Given the description of an element on the screen output the (x, y) to click on. 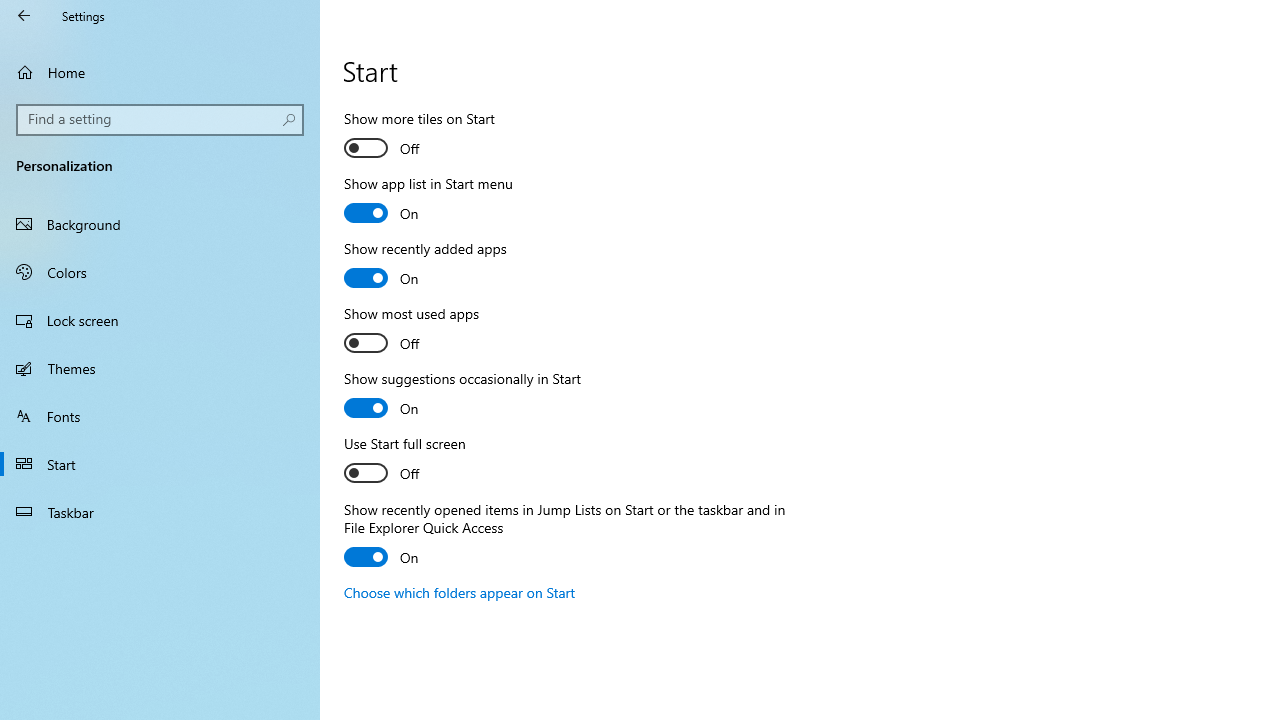
Background (160, 223)
Fonts (160, 415)
Taskbar (160, 511)
Home (160, 71)
Show suggestions occasionally in Start (463, 396)
Search box, Find a setting (160, 119)
Show more tiles on Start (419, 136)
Back (24, 15)
Show app list in Start menu (428, 201)
Show recently added apps (425, 266)
Use Start full screen (417, 461)
Choose which folders appear on Start (460, 592)
Colors (160, 271)
Themes (160, 367)
